Given the description of an element on the screen output the (x, y) to click on. 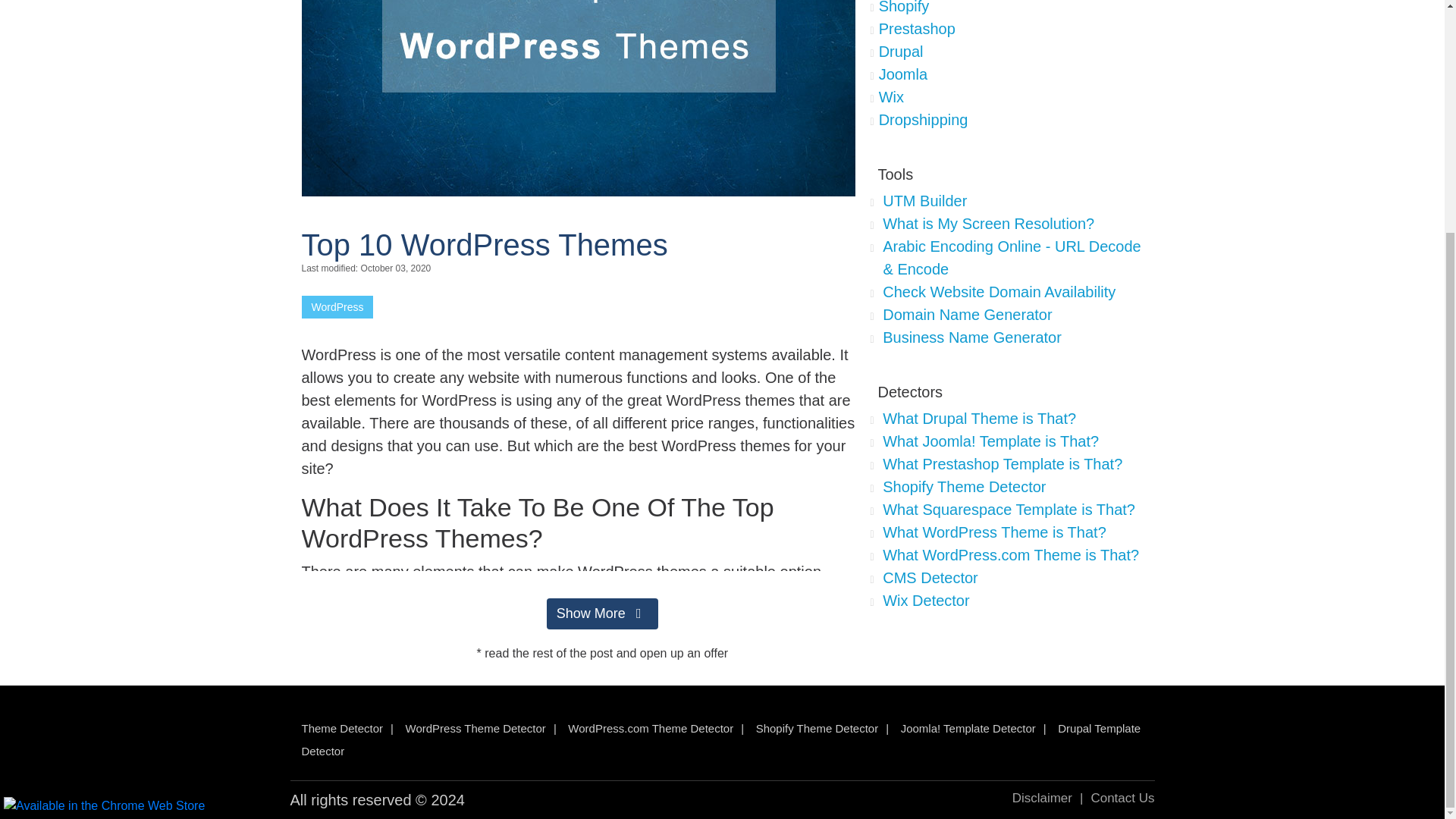
WordPress (337, 306)
